Given the description of an element on the screen output the (x, y) to click on. 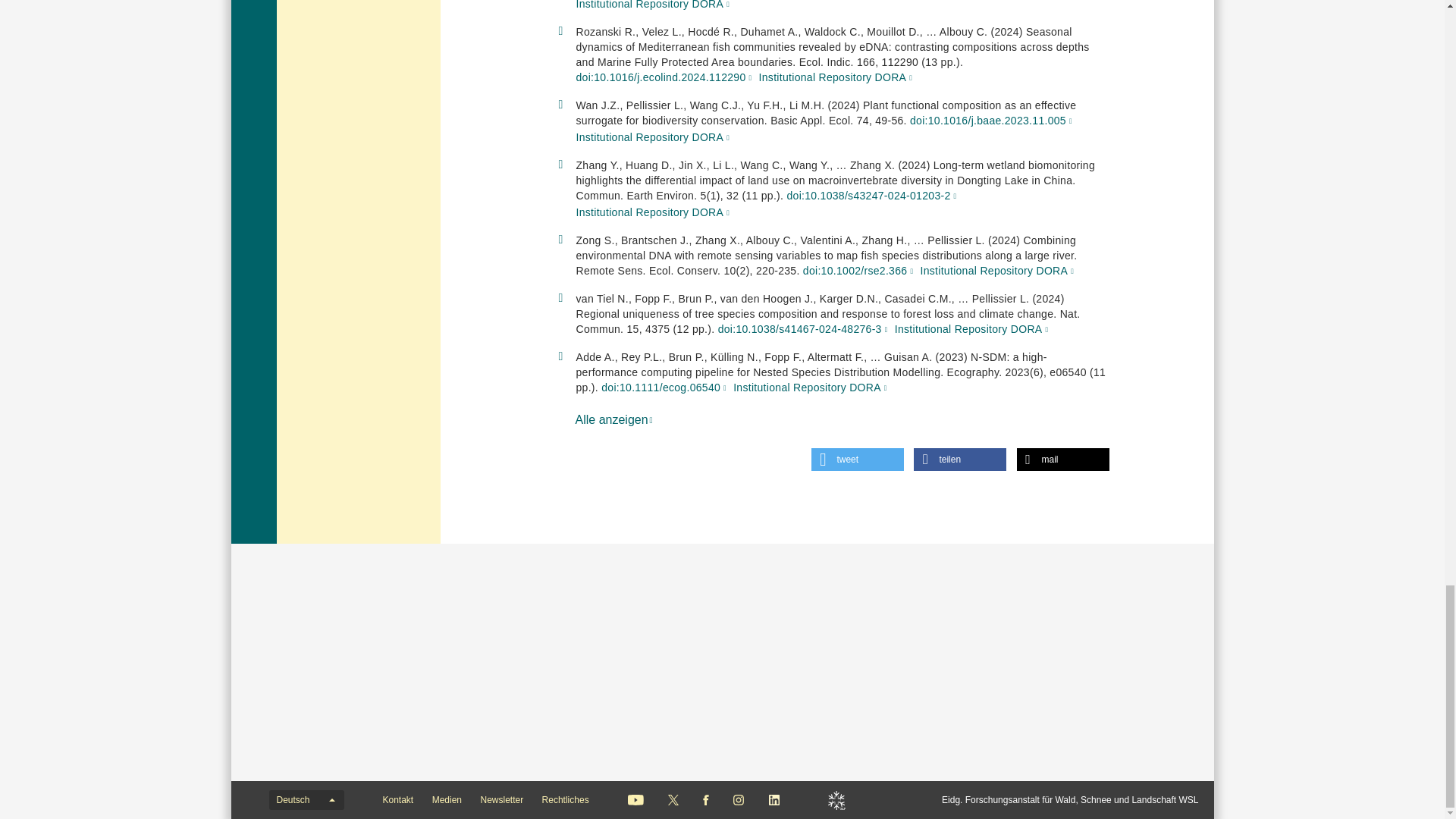
Per E-Mail versenden (1062, 458)
Bei Facebook teilen (960, 458)
Bei Twitter teilen (857, 458)
